Given the description of an element on the screen output the (x, y) to click on. 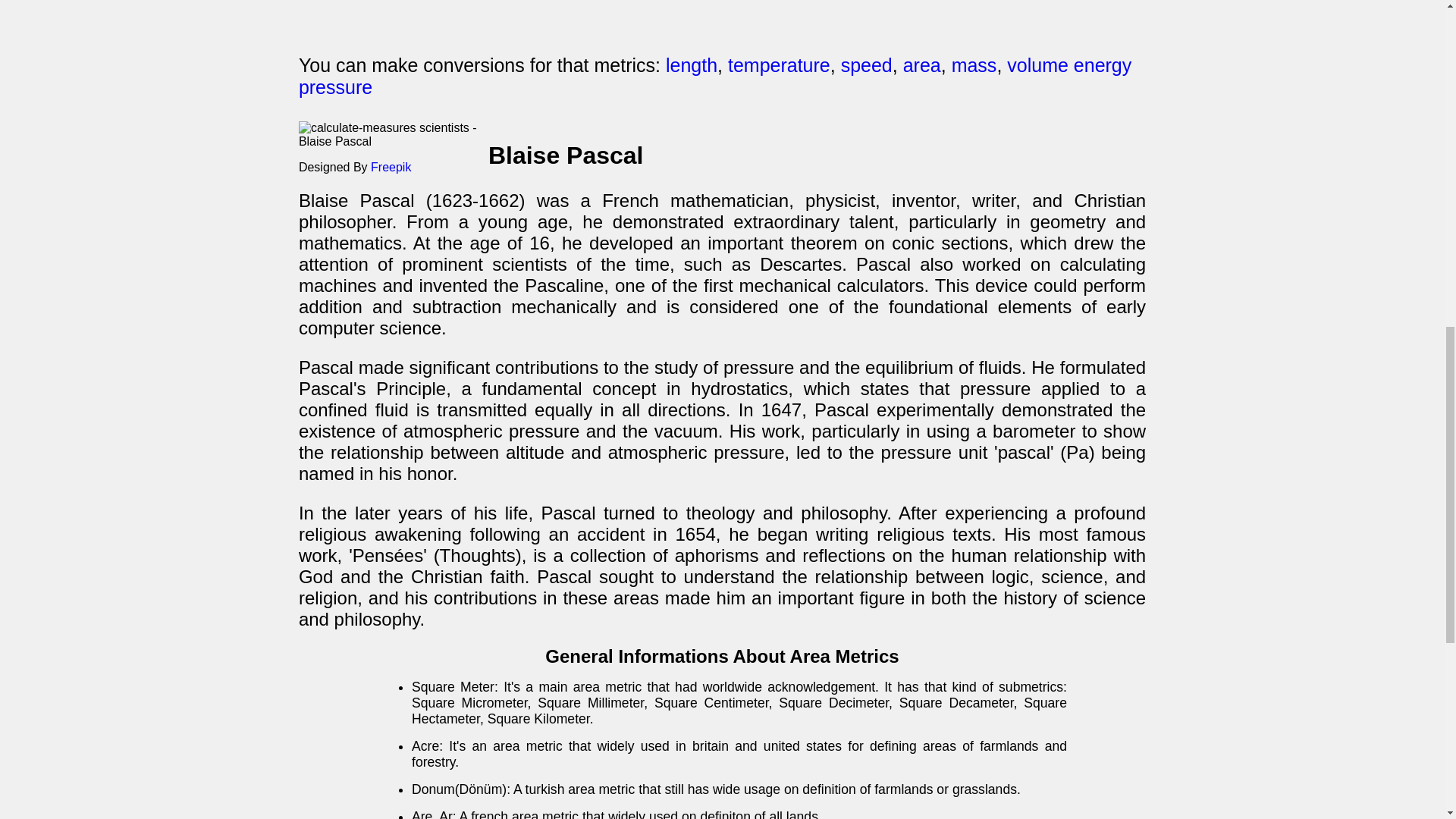
temperature (778, 65)
volume (1037, 65)
energy (1102, 65)
pressure (335, 86)
length (691, 65)
mass (974, 65)
area (921, 65)
Freepik (390, 166)
speed (866, 65)
